Given the description of an element on the screen output the (x, y) to click on. 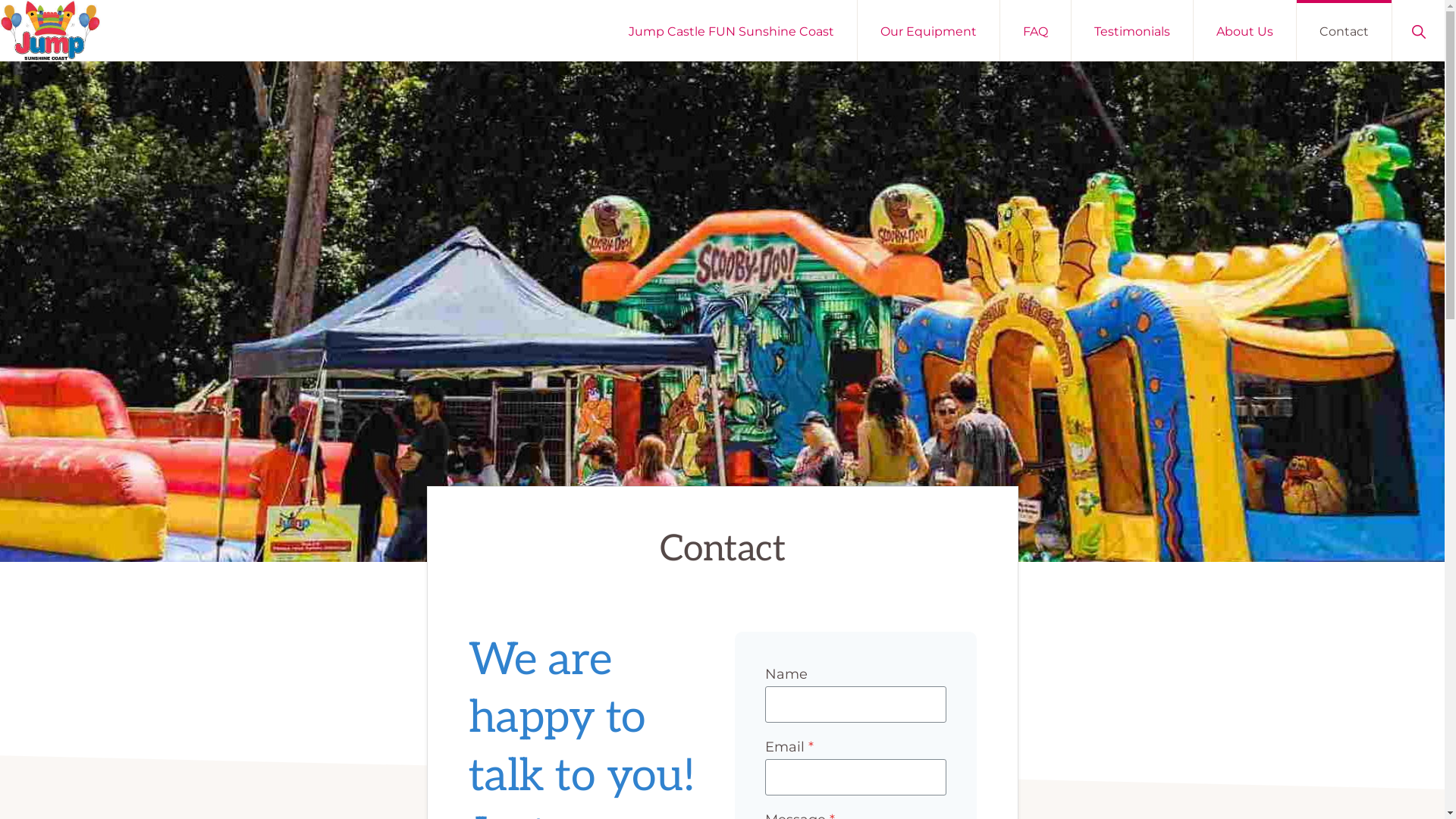
FAQ Element type: text (353, 580)
Jump Castle FUN Sunshine Coast Element type: text (730, 30)
Jump Castle FUN Sunshine Coast Element type: text (425, 613)
About Us Element type: text (1244, 30)
Show Search Element type: text (1418, 30)
Contact Element type: text (1343, 30)
Contact Element type: text (361, 546)
Log in Element type: text (374, 752)
3040-0399 Element type: text (748, 699)
FAQ Element type: text (1035, 30)
Our Equipment Element type: text (381, 647)
Testimonials Element type: text (373, 681)
About Us Element type: text (364, 512)
Testimonials Element type: text (1131, 30)
Our Equipment Element type: text (928, 30)
YMarketing Element type: text (435, 715)
Skip to primary navigation Element type: text (0, 0)
